Given the description of an element on the screen output the (x, y) to click on. 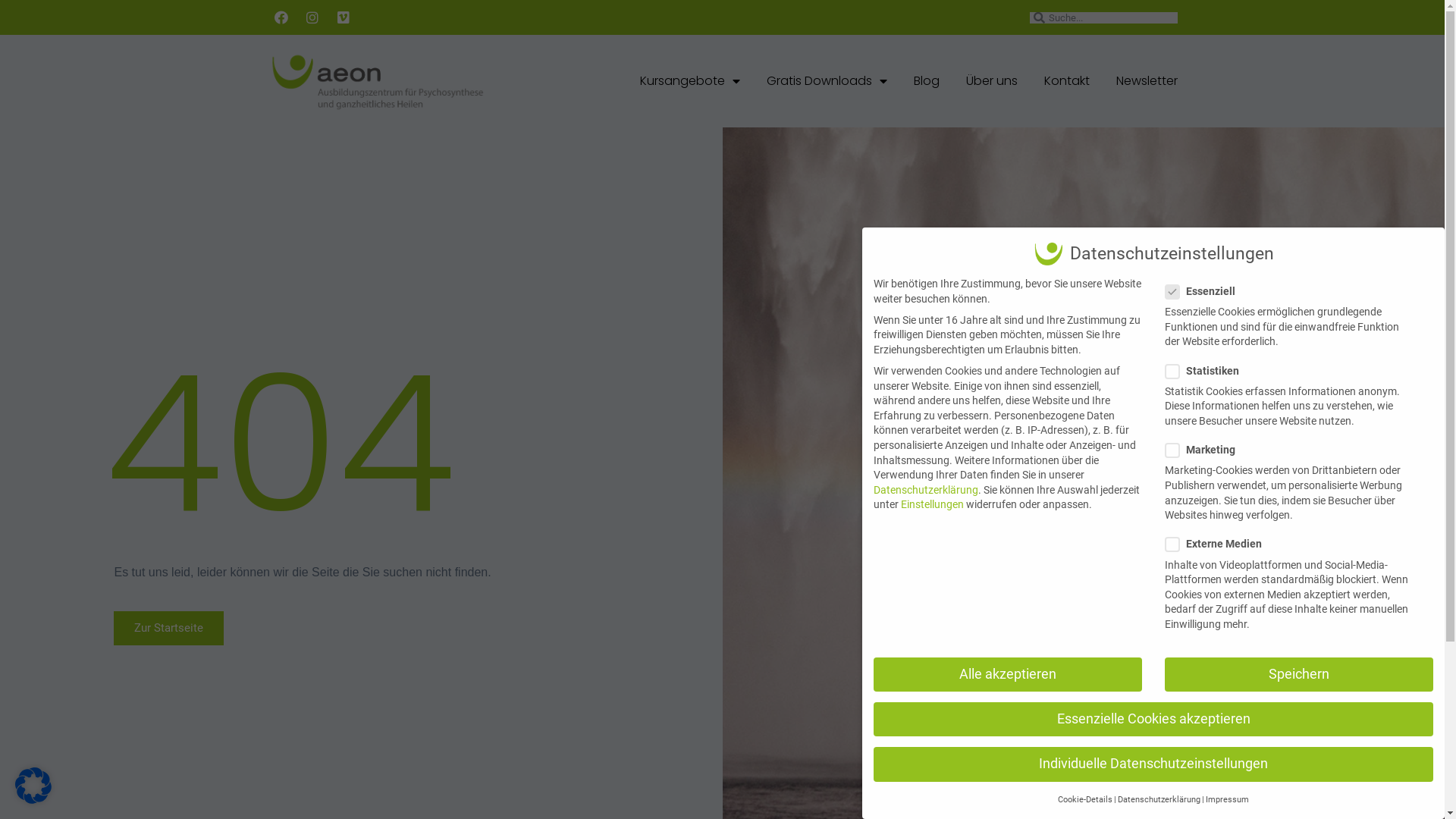
Kursangebote Element type: text (690, 81)
Newsletter Element type: text (1146, 81)
Blog Element type: text (925, 81)
Zur Startseite Element type: text (168, 628)
Kontakt Element type: text (1065, 81)
Impressum Element type: text (1226, 799)
Einstellungen Element type: text (931, 504)
Essenzielle Cookies akzeptieren Element type: text (1153, 719)
Individuelle Datenschutzeinstellungen Element type: text (1153, 763)
Gratis Downloads Element type: text (825, 81)
Alle akzeptieren Element type: text (1007, 674)
Speichern Element type: text (1298, 674)
Cookie-Details Element type: text (1084, 799)
